Given the description of an element on the screen output the (x, y) to click on. 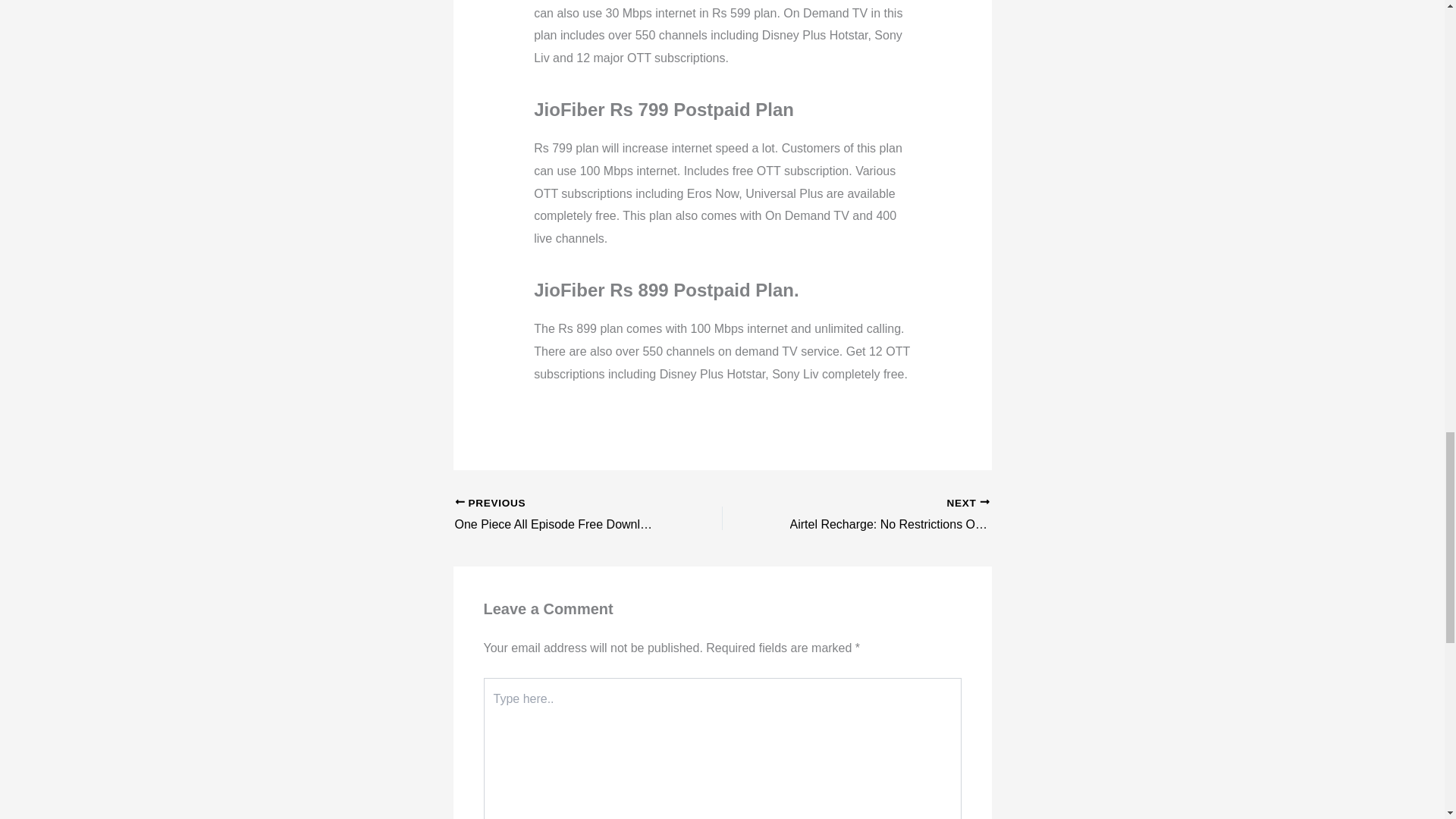
One Piece All Episode Free Download (561, 515)
